Given the description of an element on the screen output the (x, y) to click on. 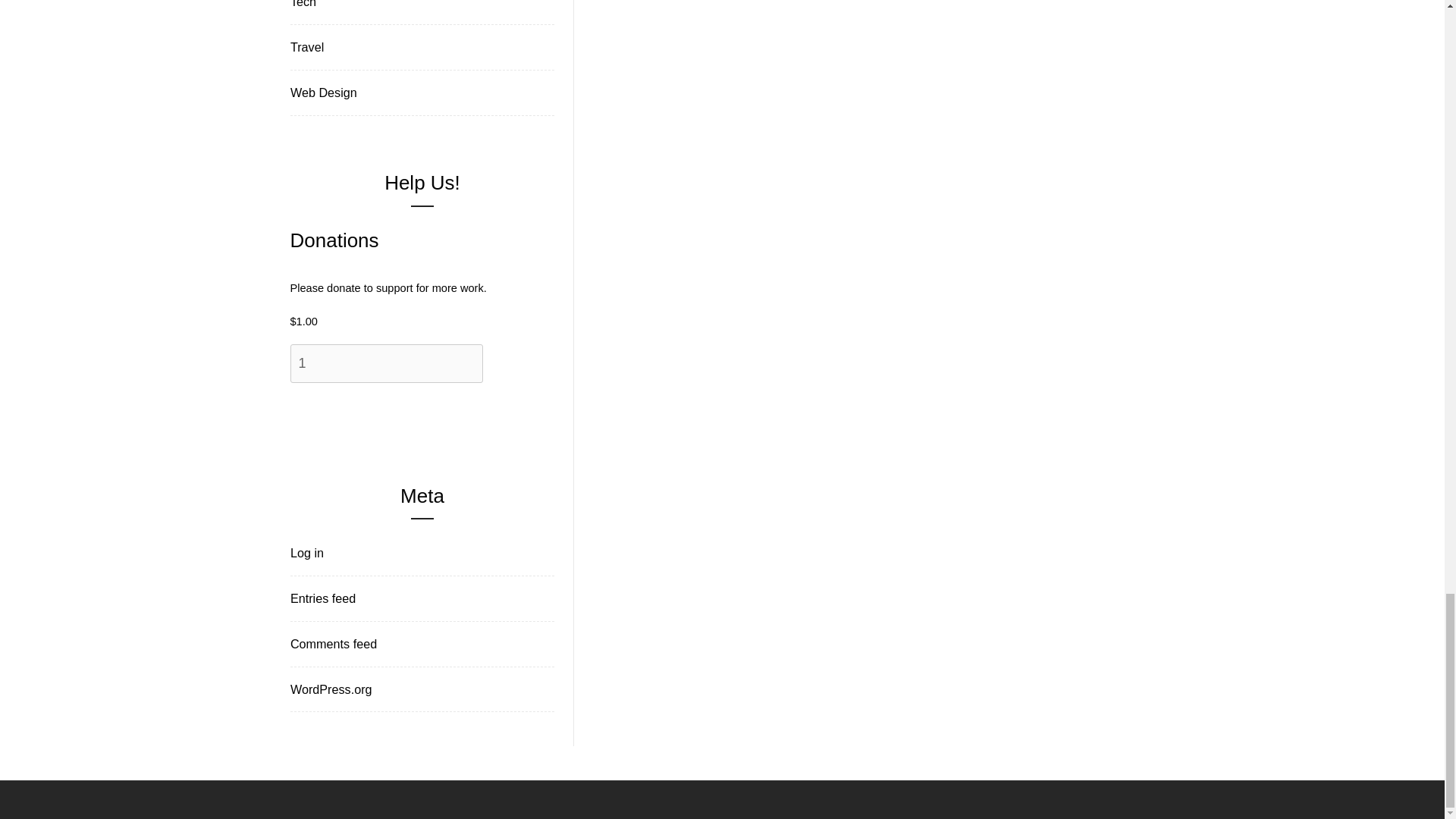
PayPal (402, 439)
1 (385, 363)
